Given the description of an element on the screen output the (x, y) to click on. 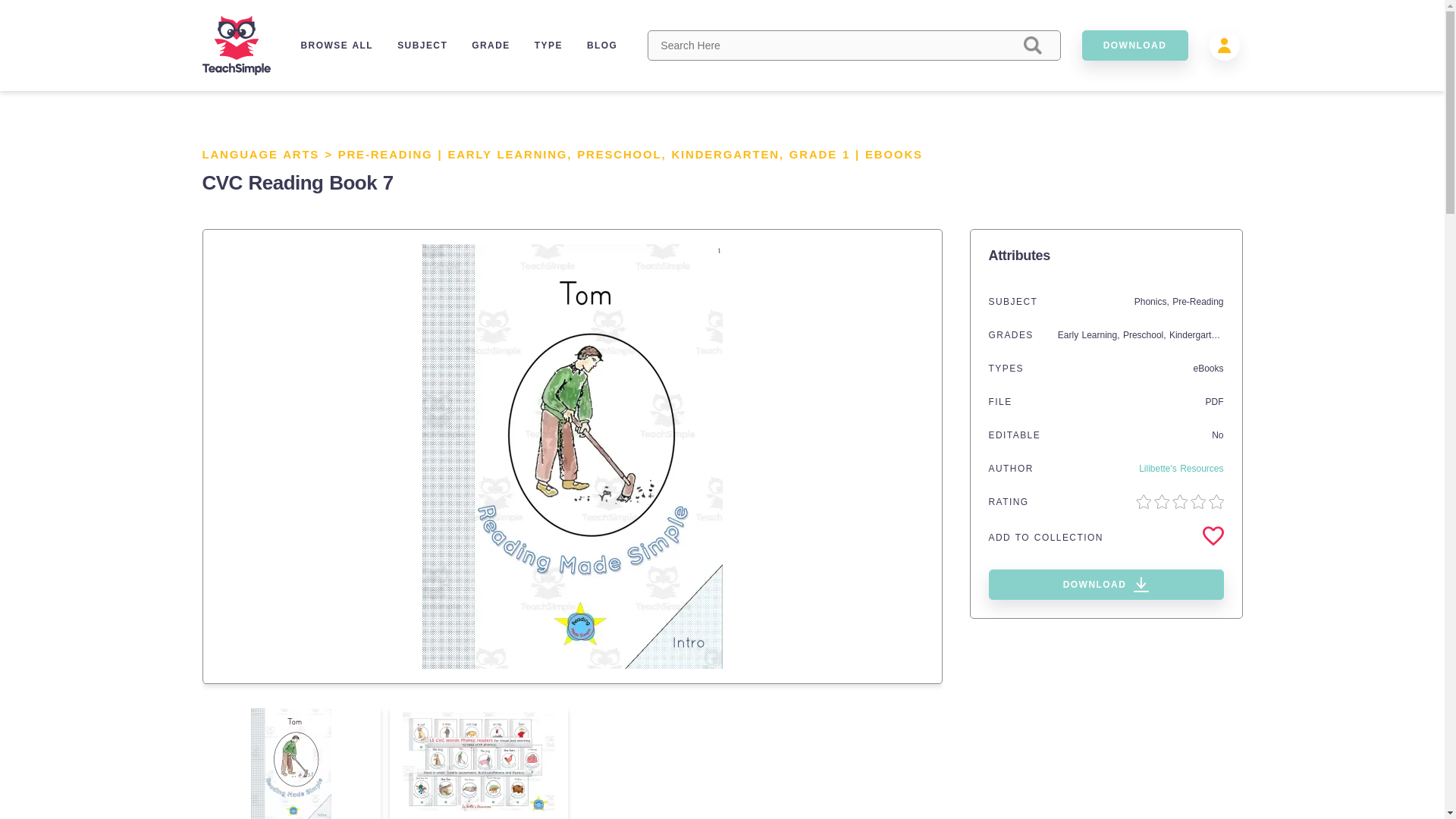
1 (846, 154)
KINDERGARTEN (724, 154)
Preschool, (1145, 335)
EARLY LEARNING, (511, 154)
PDF (1214, 401)
PRESCHOOL, (623, 154)
DOWNLOAD (1106, 584)
Kindergarten (1195, 335)
PRE-READING (384, 154)
DOWNLOAD (1134, 45)
BLOG (601, 45)
EBOOKS (893, 154)
Early Learning, (1090, 335)
LANGUAGE ARTS (260, 154)
Phonics, (1153, 301)
